Given the description of an element on the screen output the (x, y) to click on. 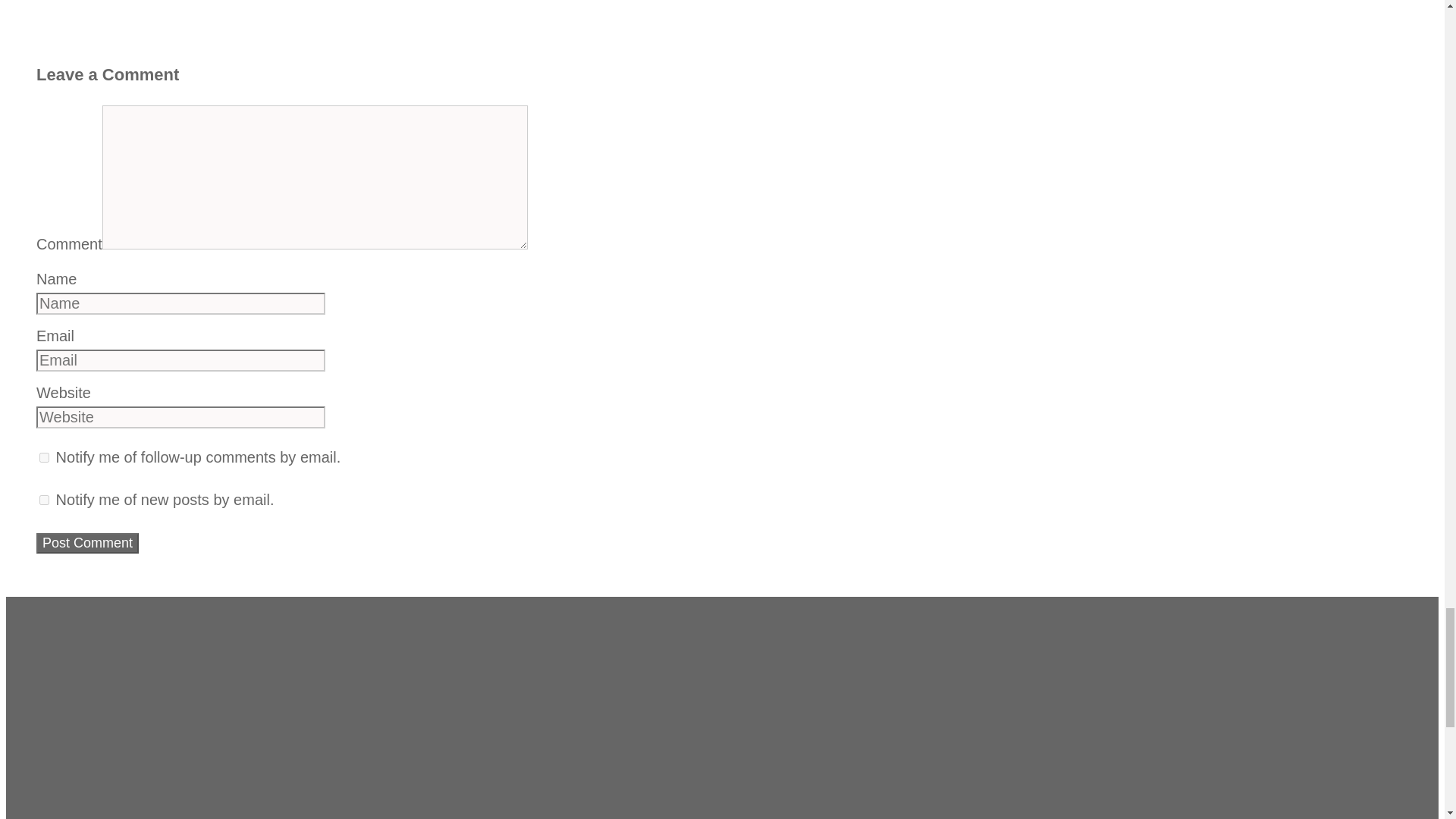
subscribe (44, 457)
Post Comment (87, 543)
subscribe (44, 500)
